Given the description of an element on the screen output the (x, y) to click on. 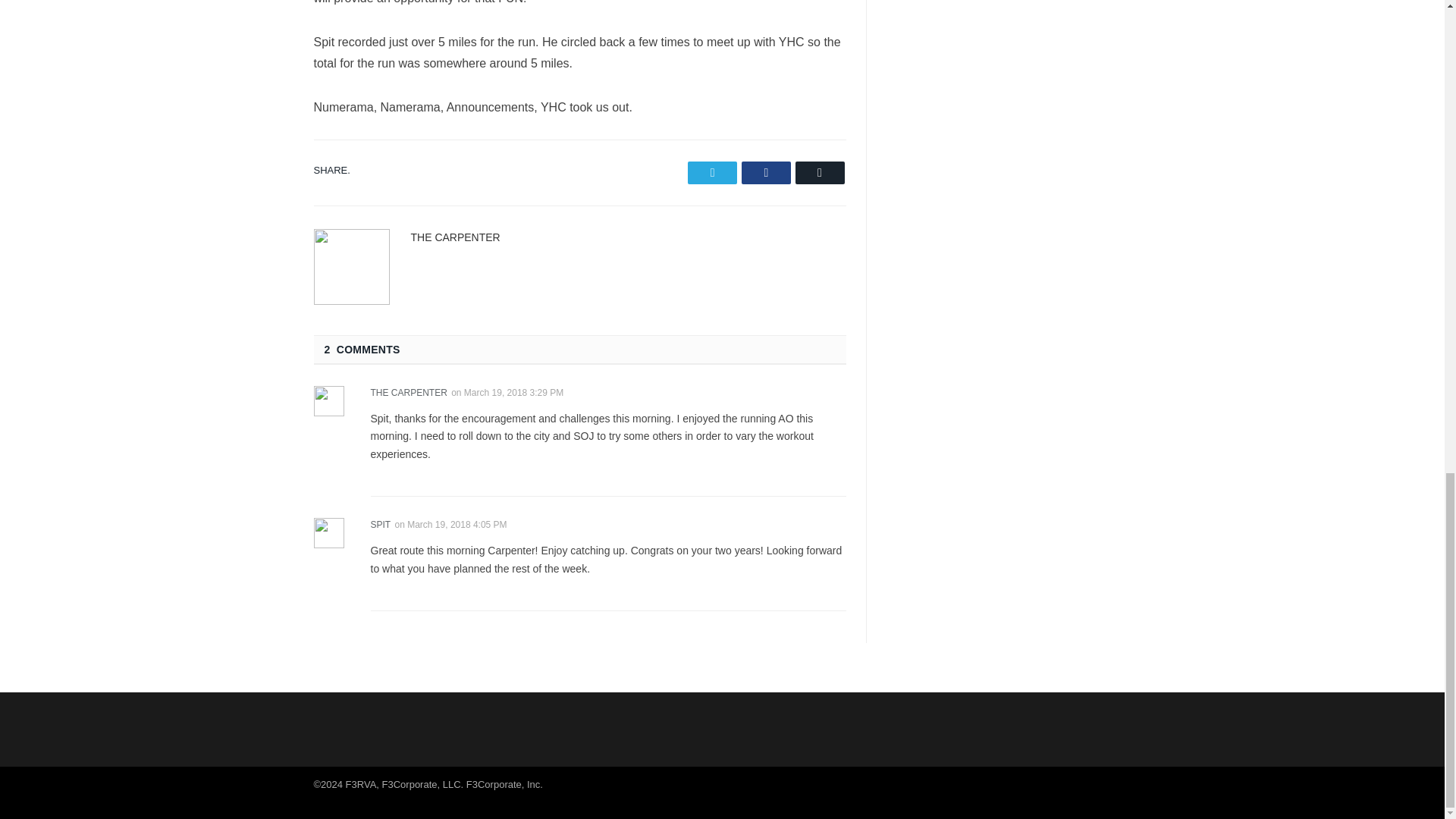
THE CARPENTER (455, 236)
March 19, 2018 at 4:05 PM (456, 524)
March 19, 2018 4:05 PM (456, 524)
Facebook (765, 171)
Email (819, 171)
March 19, 2018 3:29 PM (513, 391)
March 19, 2018 at 3:29 PM (513, 391)
Posts by The Carpenter (455, 236)
Twitter (711, 171)
